Given the description of an element on the screen output the (x, y) to click on. 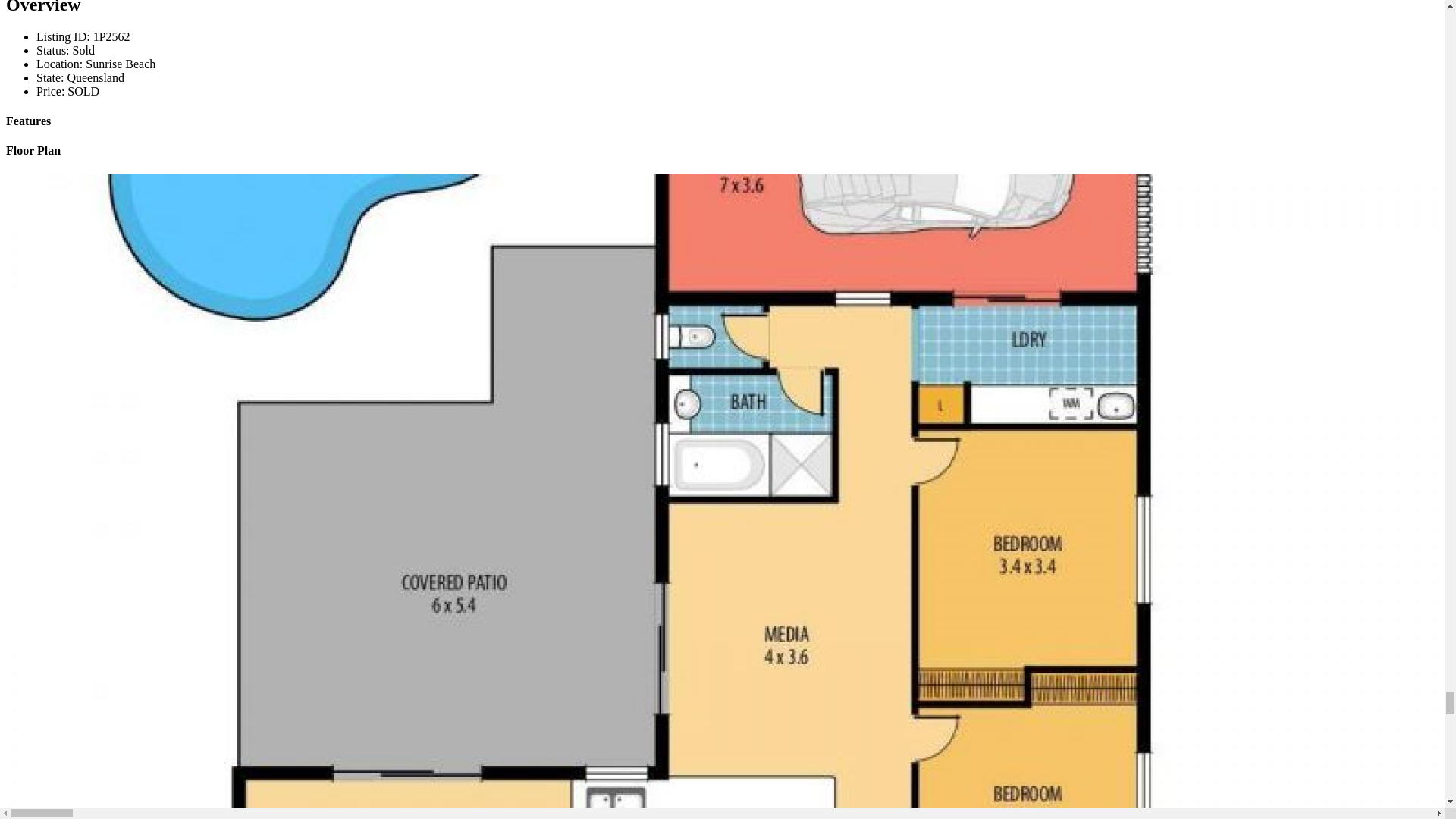
Lease Element type: text (50, 253)
About Element type: text (51, 267)
Sell Element type: text (45, 31)
Buy Element type: text (46, 18)
Lease Element type: text (50, 45)
Previous Element type: text (31, 322)
Buy Element type: text (46, 226)
Contact Element type: text (55, 294)
The Latest Element type: text (61, 72)
The Latest Element type: text (61, 281)
About Element type: text (51, 59)
Contact Element type: text (55, 86)
Toggle navigation Element type: text (51, 181)
Sell Element type: text (45, 240)
